Given the description of an element on the screen output the (x, y) to click on. 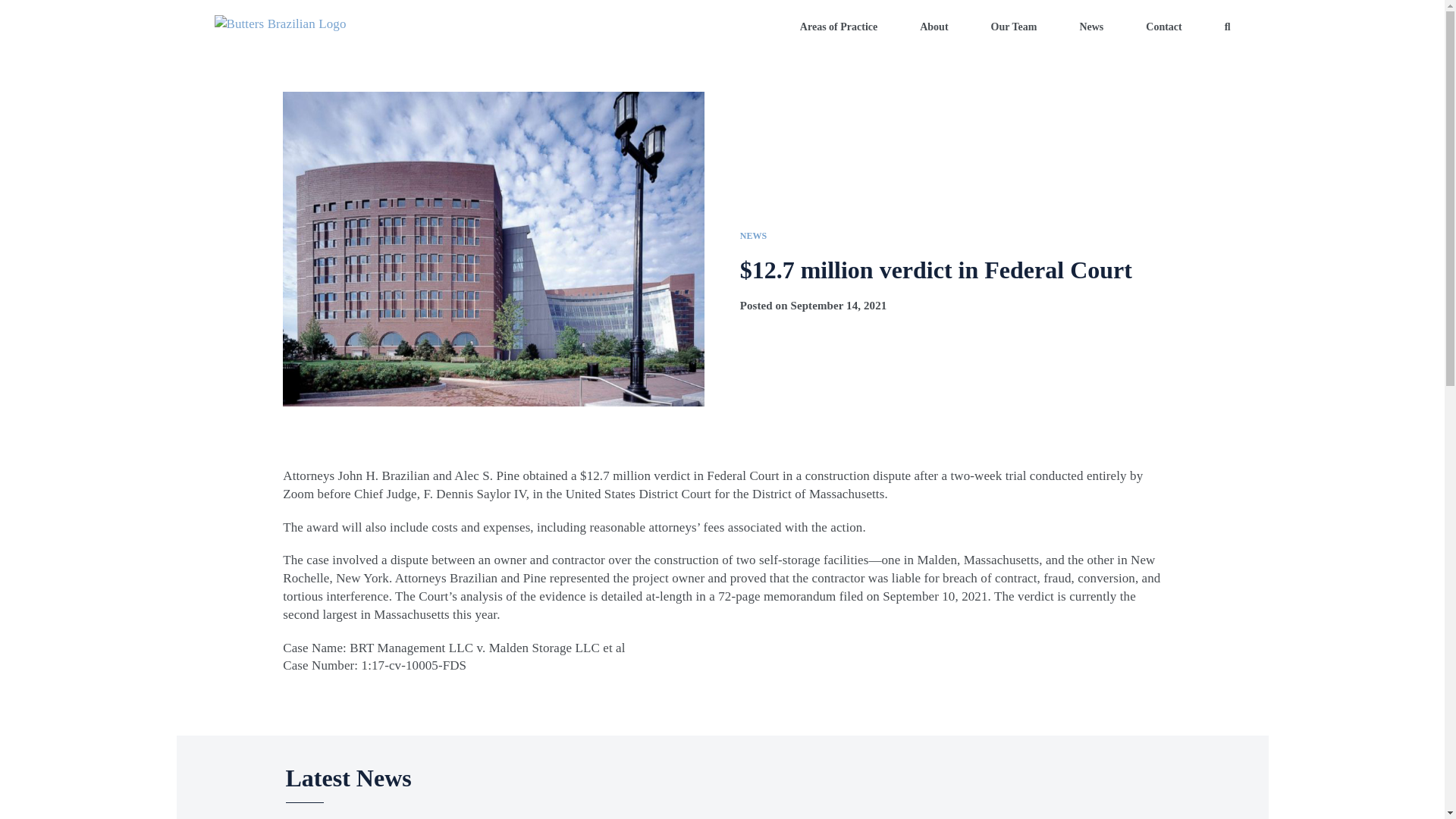
Latest News (722, 777)
Areas of Practice (838, 27)
NEWS (753, 235)
